Given the description of an element on the screen output the (x, y) to click on. 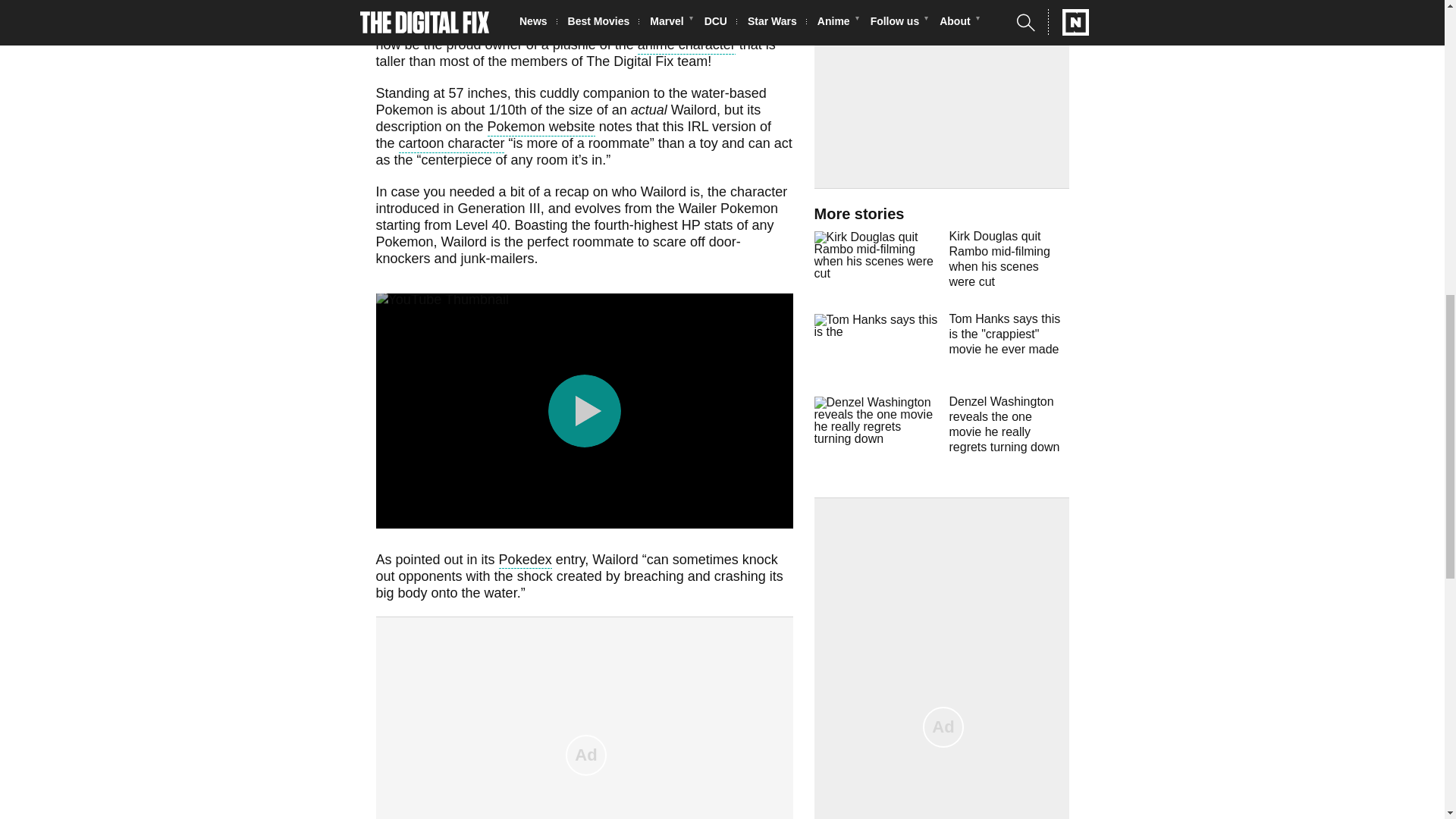
anime series (549, 29)
anime character (686, 46)
Pokemon (678, 13)
